Given the description of an element on the screen output the (x, y) to click on. 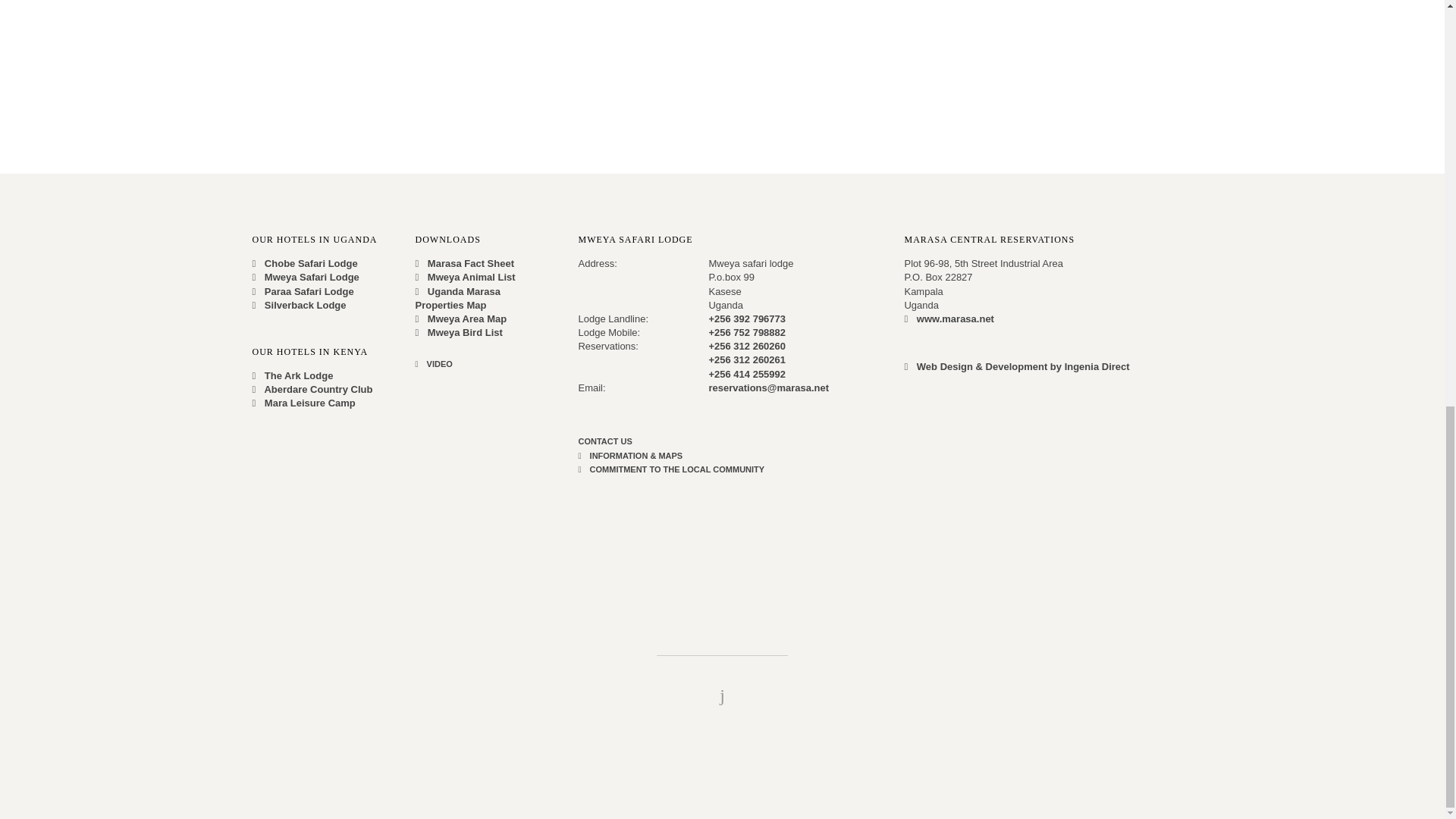
Mara Leisure Camp (303, 402)
The Ark Lodge (292, 375)
Mweya Safari Lodge (304, 276)
Chobe Safari Lodge (303, 263)
Silverback Lodge (298, 305)
Aberdare Country Club (311, 389)
Marasa Fact Sheet (463, 263)
Paraa Safari Lodge (302, 290)
